Given the description of an element on the screen output the (x, y) to click on. 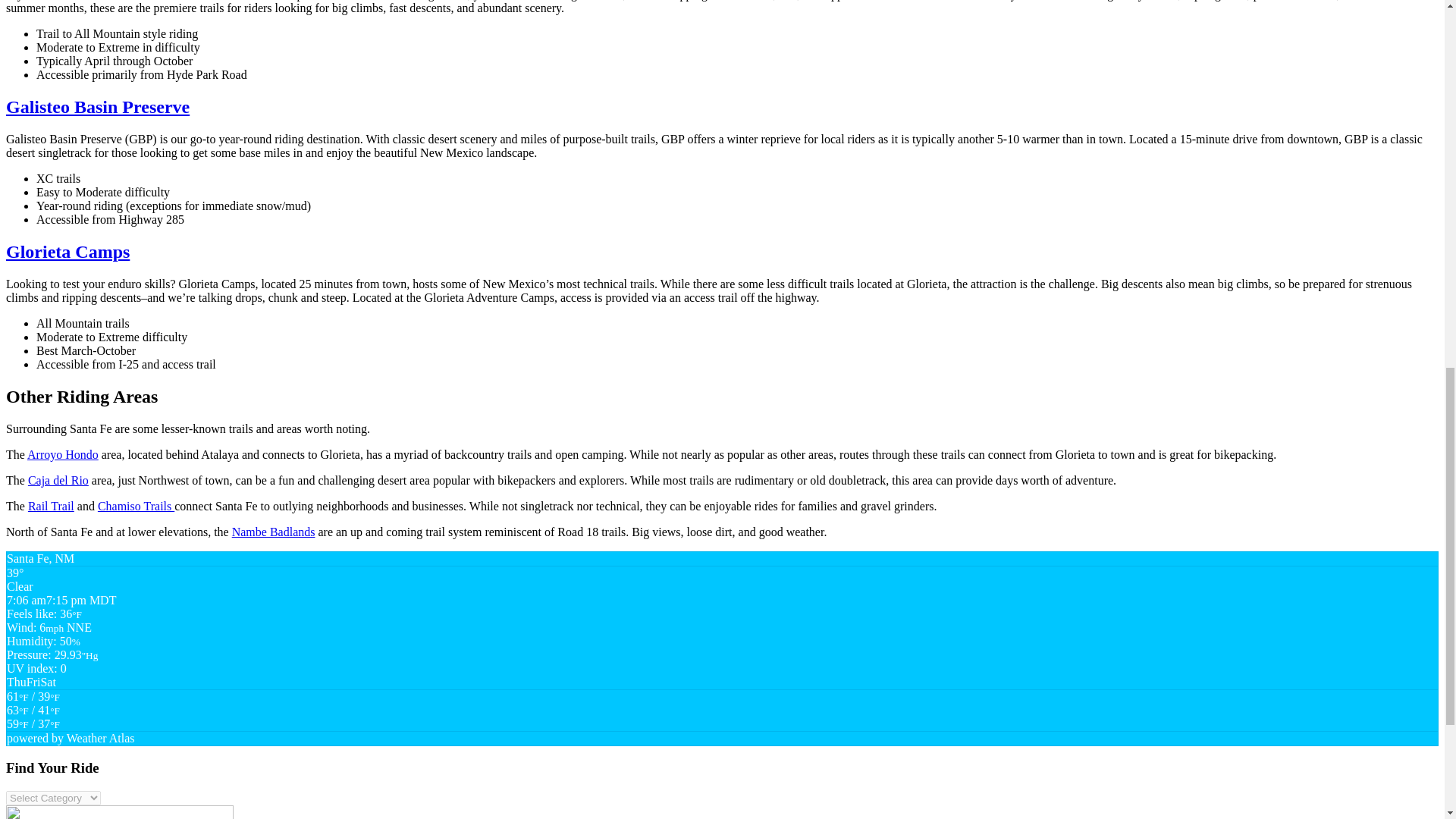
Arroyo Hondo (63, 454)
Glorieta Camps (67, 251)
Galisteo Basin Preserve (97, 107)
Cloudy (33, 723)
Mostly Sunny (33, 703)
Rail Trail (50, 505)
Nambe Badlands (273, 531)
Chamiso Trails (135, 505)
Caja del Rio (57, 480)
Mostly Sunny (33, 716)
